Given the description of an element on the screen output the (x, y) to click on. 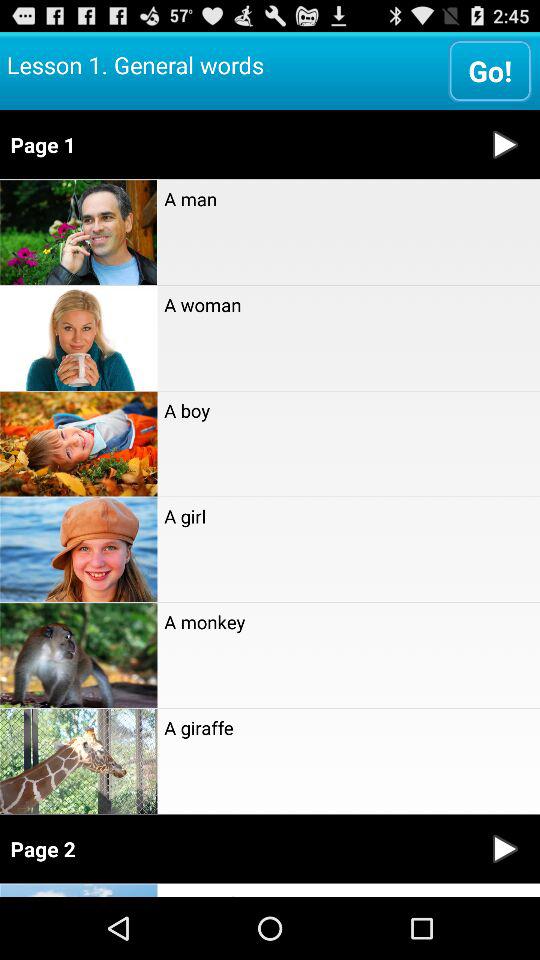
tap the to stand icon (348, 890)
